Given the description of an element on the screen output the (x, y) to click on. 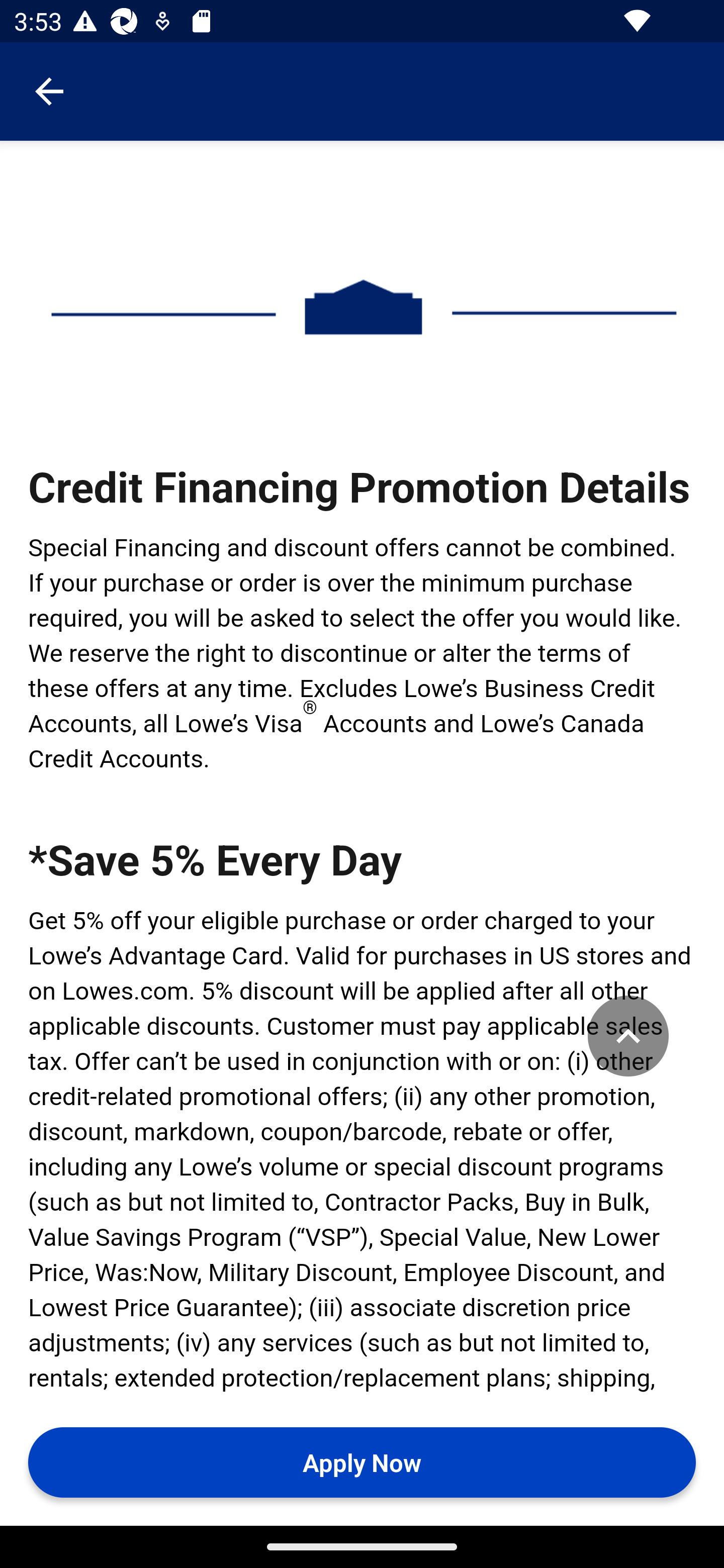
Navigate up (49, 91)
Page divider (363, 307)
title (628, 1036)
Apply Now (361, 1462)
